Given the description of an element on the screen output the (x, y) to click on. 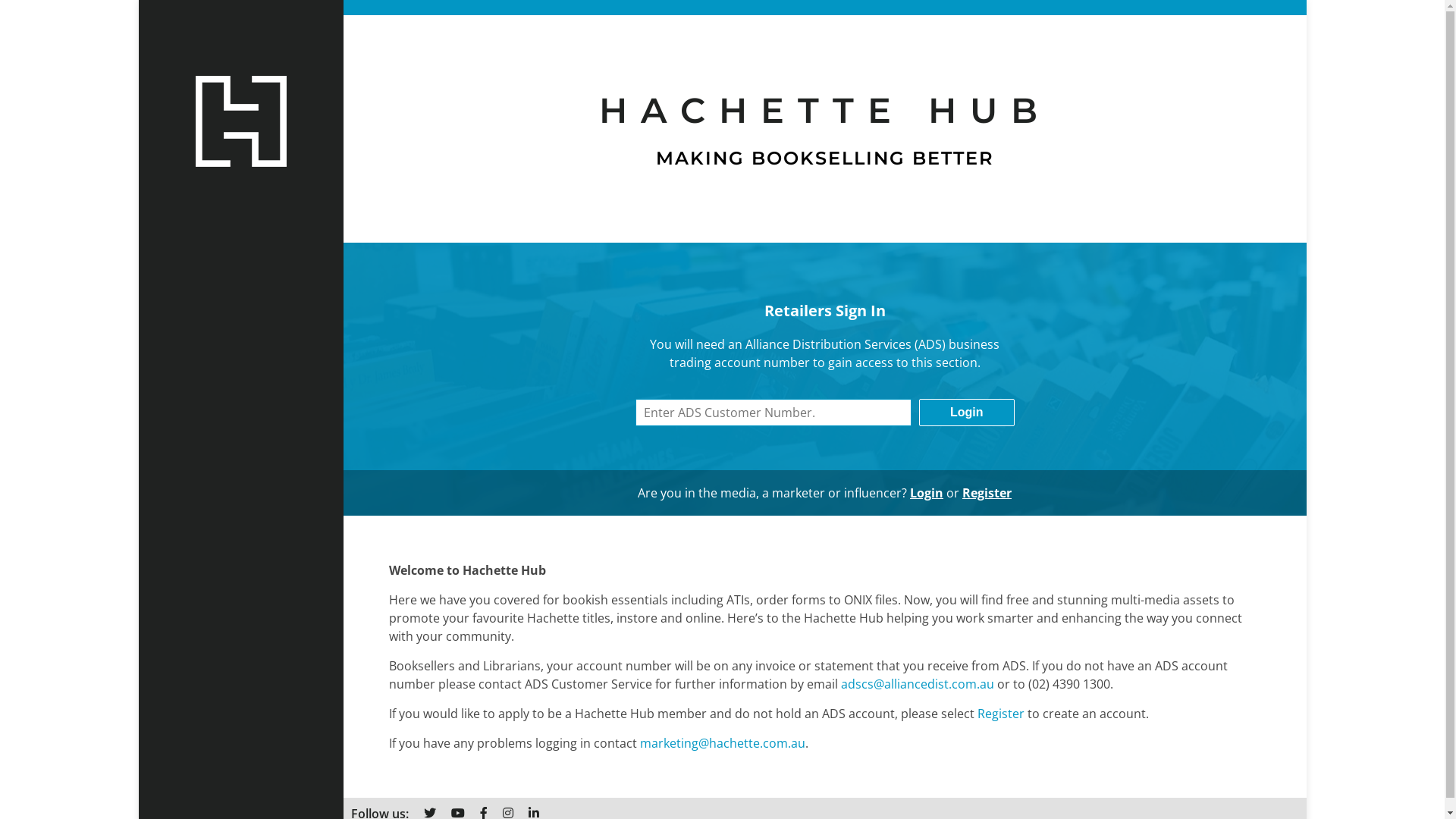
adscs@alliancedist.com.au Element type: text (916, 683)
Login Element type: text (926, 492)
Register Element type: text (999, 713)
Login Element type: text (966, 412)
marketing@hachette.com.au Element type: text (722, 742)
Register Element type: text (986, 492)
